Given the description of an element on the screen output the (x, y) to click on. 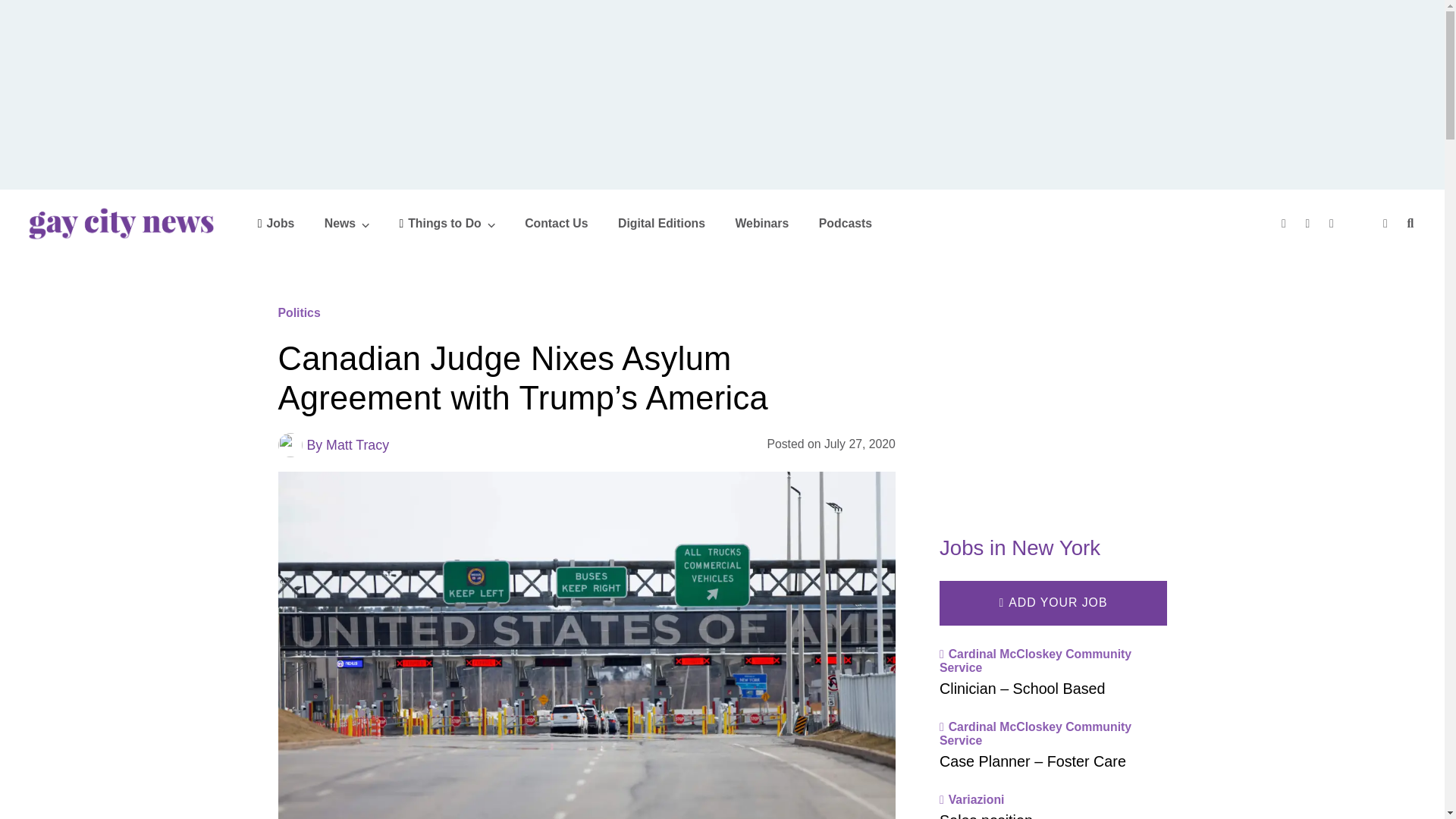
Webinars (762, 223)
News (346, 223)
Things to Do (446, 223)
Posts by Matt Tracy (357, 444)
Digital Editions (660, 223)
Jobs (276, 223)
Podcasts (845, 223)
Contact Us (556, 223)
